Given the description of an element on the screen output the (x, y) to click on. 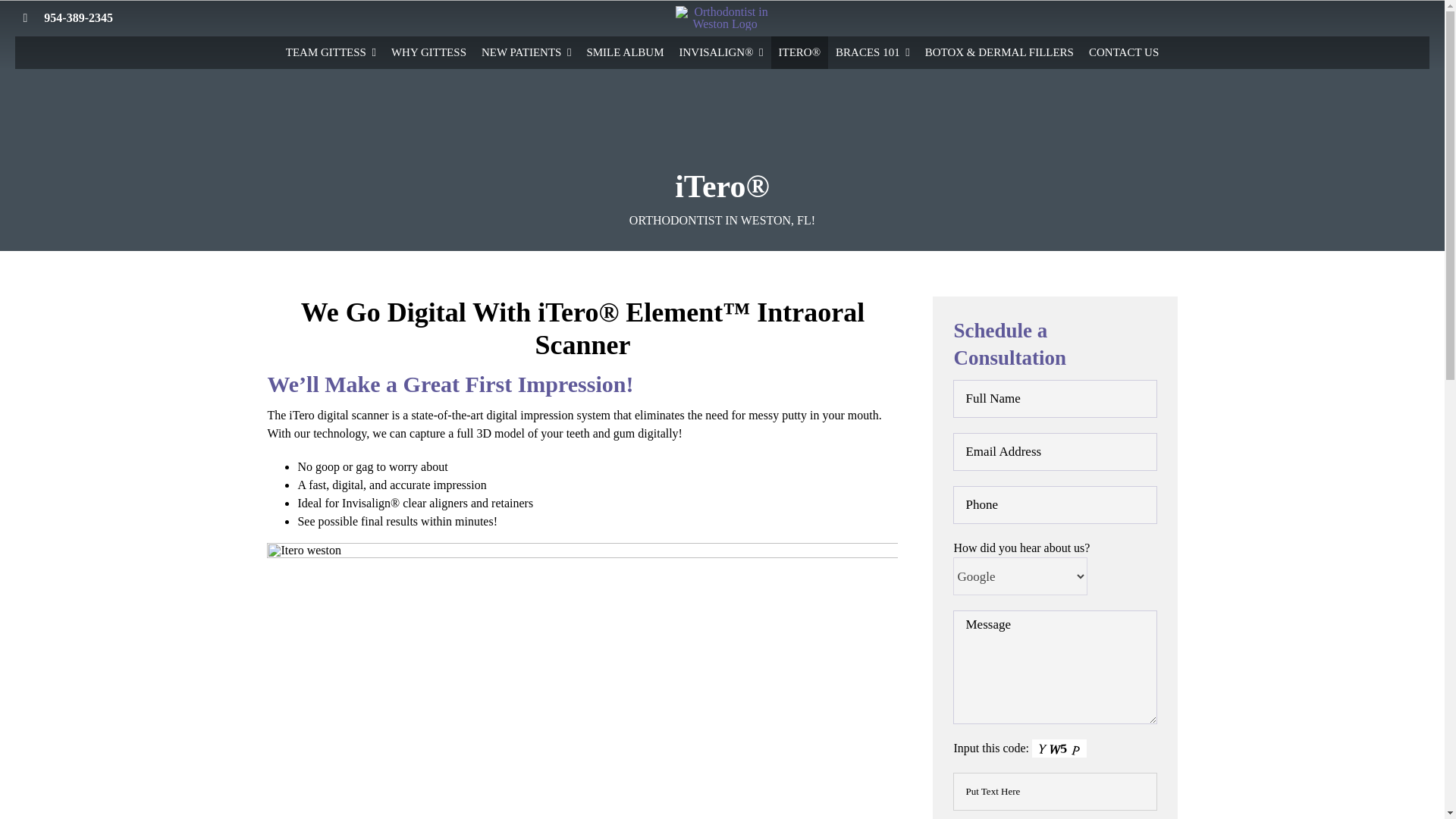
BRACES 101 (872, 52)
WHY GITTESS (429, 52)
NEW PATIENTS (526, 52)
954-389-2345 (78, 17)
SMILE ALBUM (624, 52)
TEAM GITTESS (331, 52)
